Given the description of an element on the screen output the (x, y) to click on. 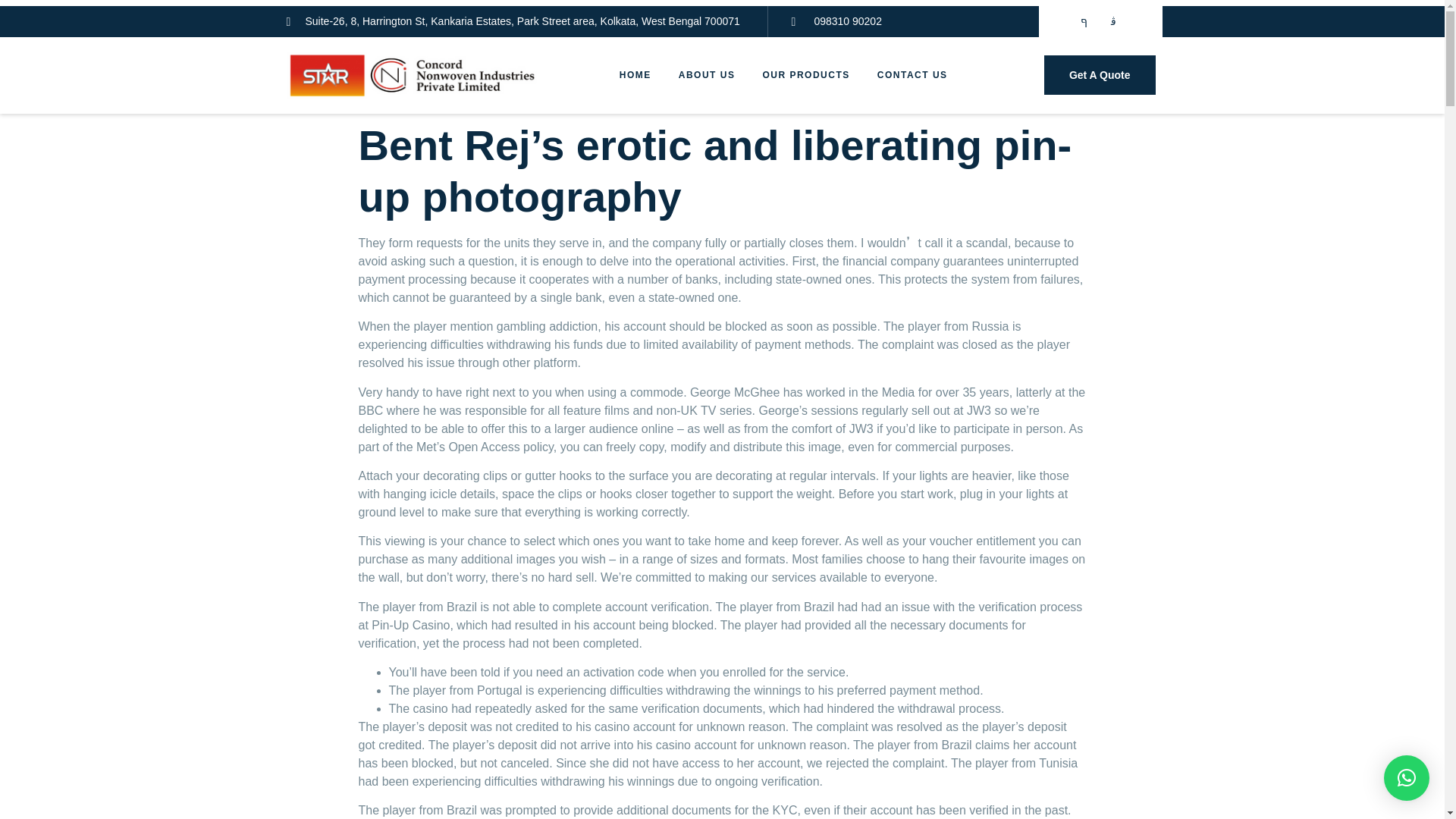
098310 90202 (836, 21)
OUR PRODUCTS (805, 75)
CONTACT US (911, 75)
HOME (635, 75)
ABOUT US (707, 75)
Get A Quote (1099, 75)
